Given the description of an element on the screen output the (x, y) to click on. 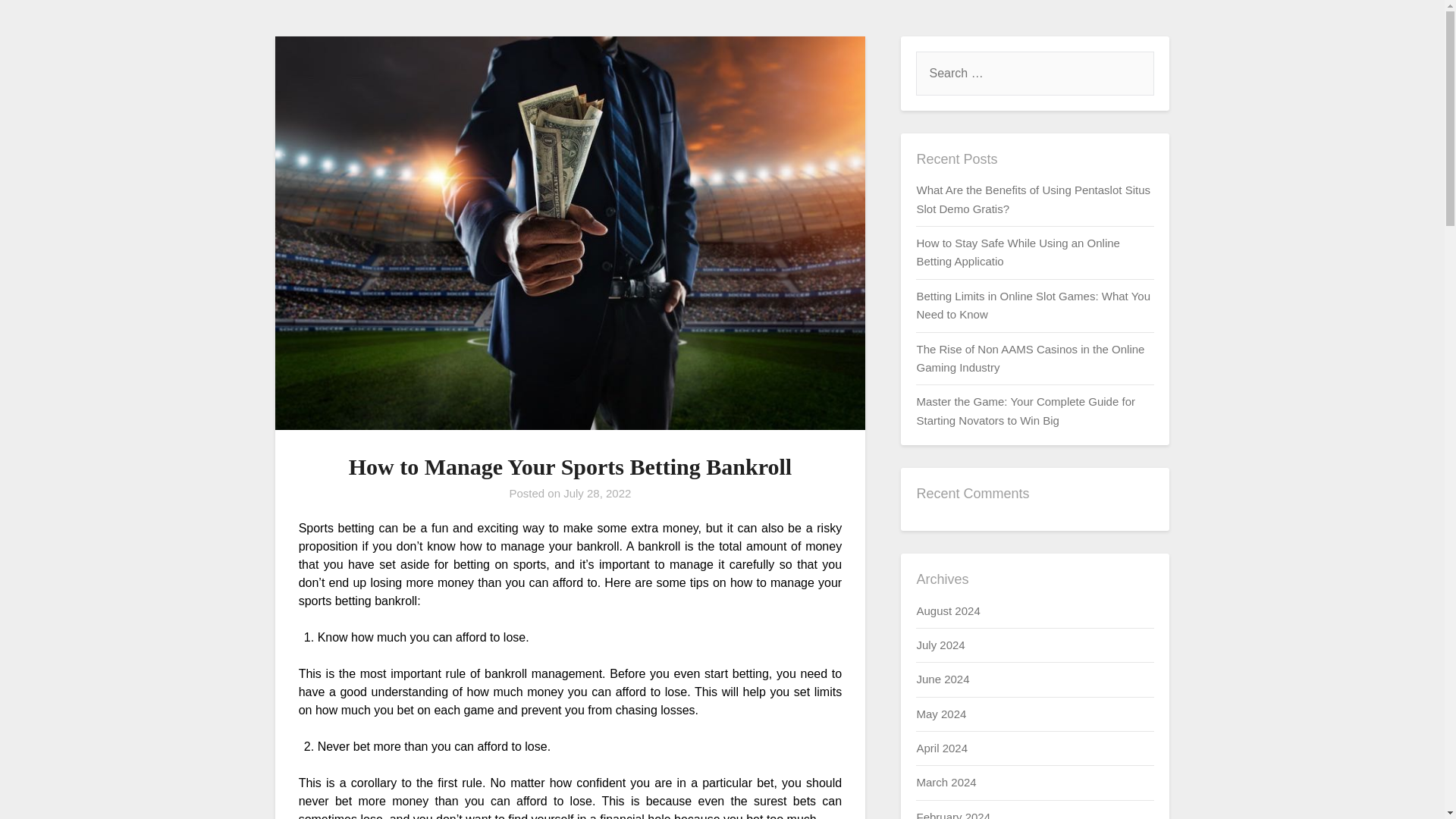
March 2024 (945, 781)
August 2024 (947, 609)
June 2024 (942, 678)
May 2024 (940, 713)
Betting Limits in Online Slot Games: What You Need to Know (1032, 305)
Search (37, 22)
February 2024 (952, 814)
July 2024 (939, 644)
April 2024 (941, 748)
